Given the description of an element on the screen output the (x, y) to click on. 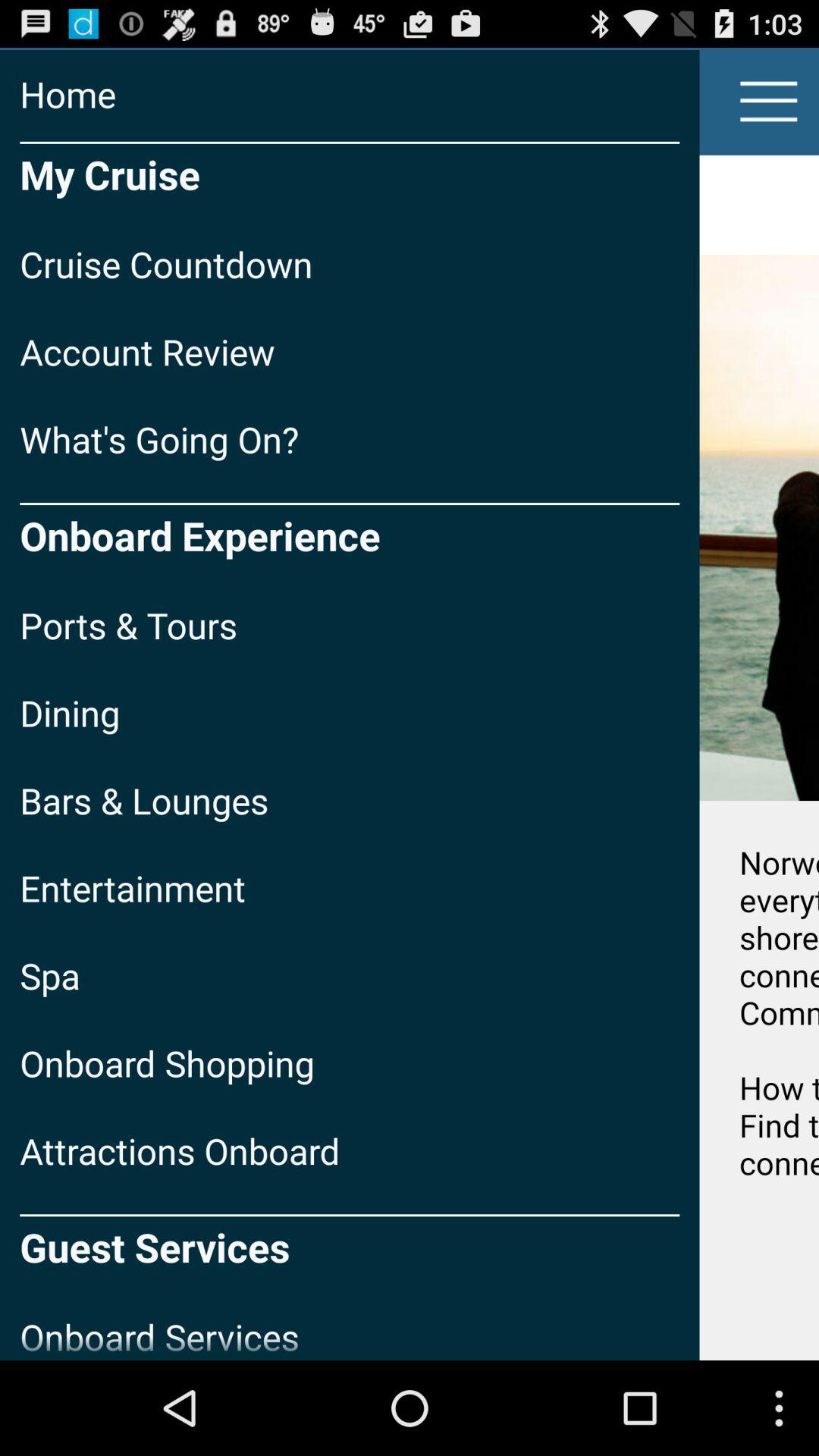
click home icon (349, 93)
